Given the description of an element on the screen output the (x, y) to click on. 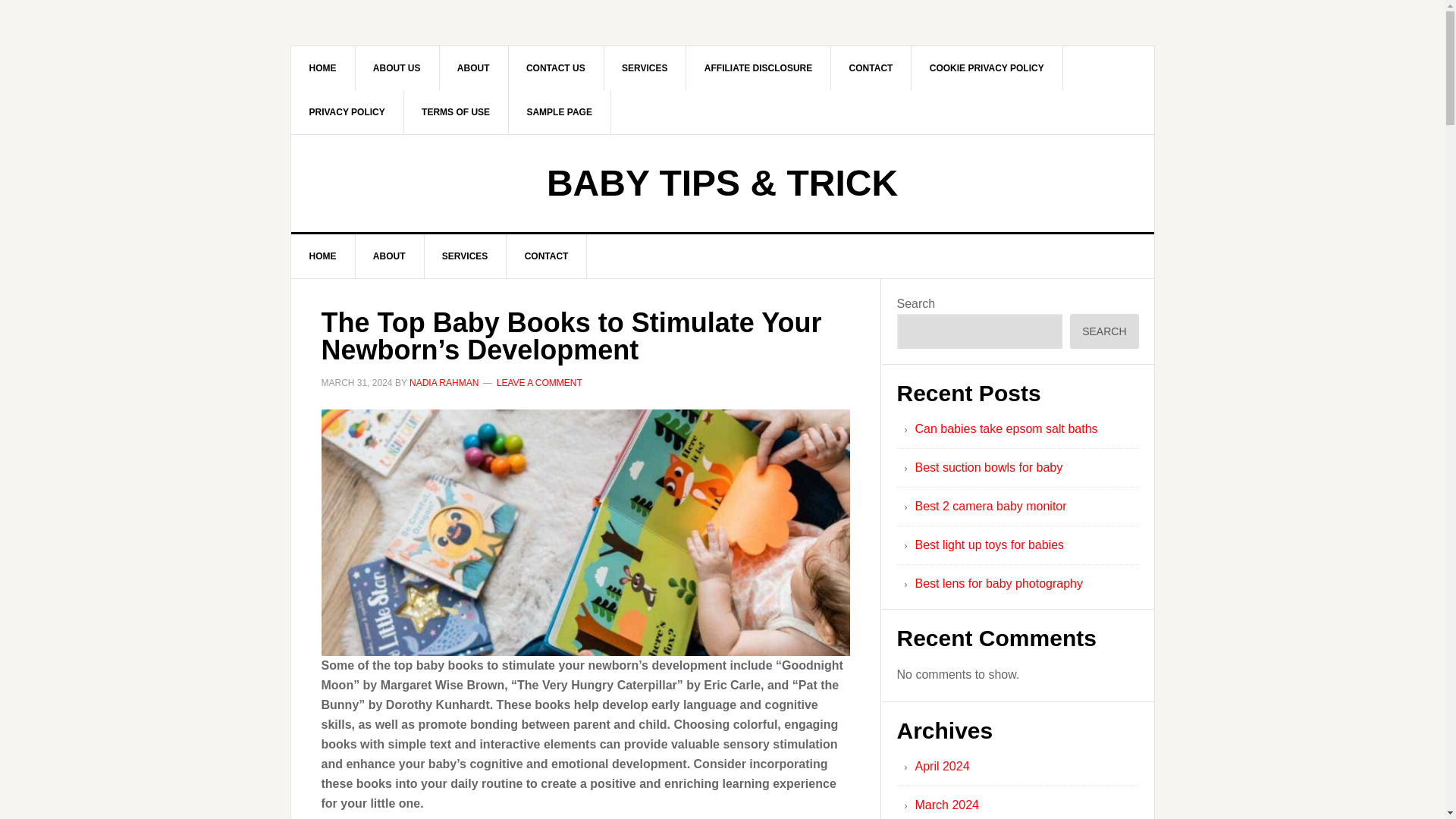
PRIVACY POLICY (347, 112)
ABOUT (390, 256)
HOME (323, 67)
COOKIE PRIVACY POLICY (986, 67)
CONTACT US (556, 67)
ABOUT (473, 67)
NADIA RAHMAN (444, 382)
TERMS OF USE (455, 112)
CONTACT (871, 67)
ABOUT US (397, 67)
